Given the description of an element on the screen output the (x, y) to click on. 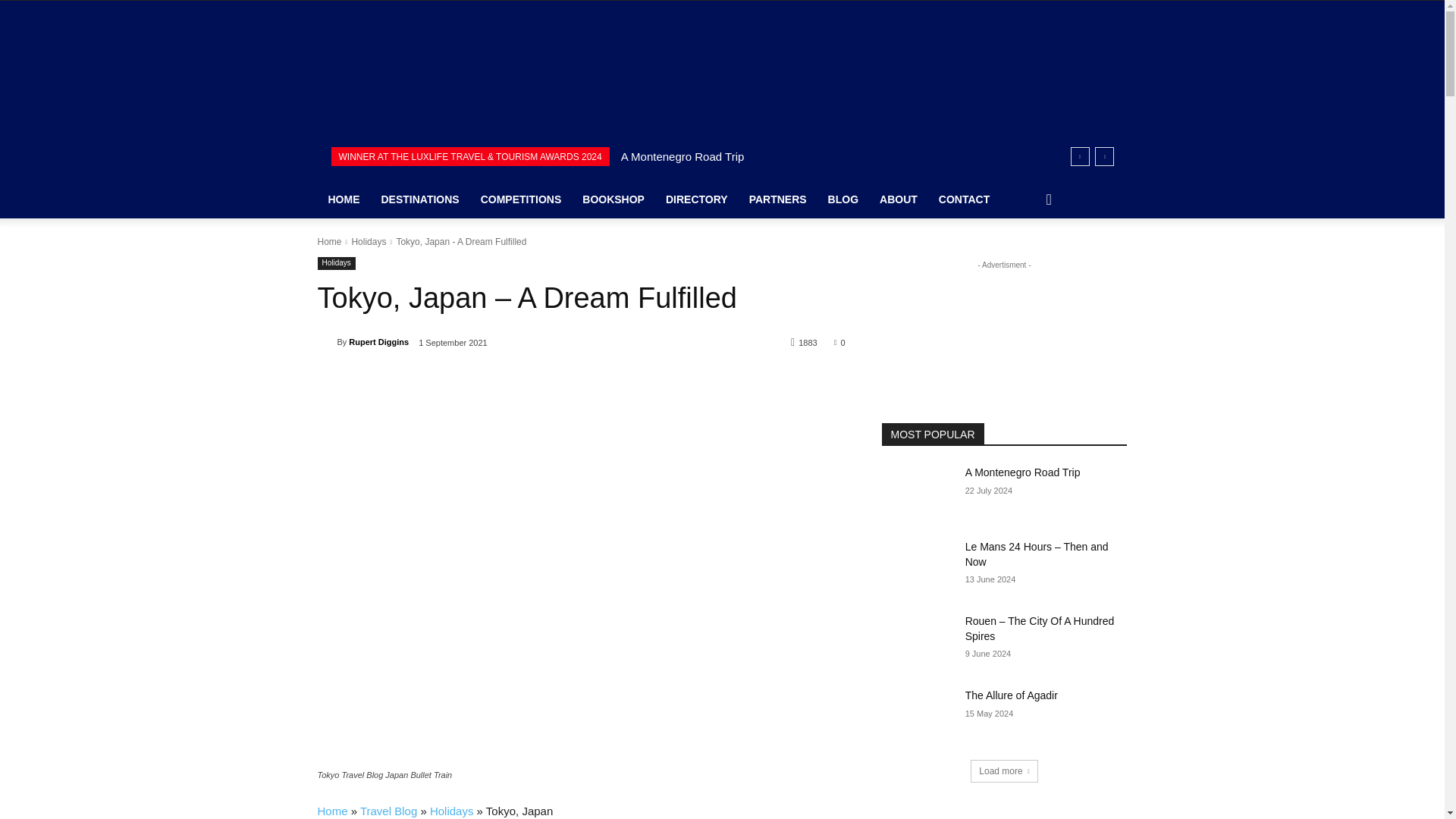
CONTACT (964, 198)
BOOKSHOP (613, 198)
Just One For The Road Travel Blog (438, 80)
A Montenegro Road Trip (682, 155)
DIRECTORY (696, 198)
BLOG (842, 198)
DESTINATIONS (418, 198)
COMPETITIONS (521, 198)
HOME (343, 198)
ABOUT (898, 198)
